Given the description of an element on the screen output the (x, y) to click on. 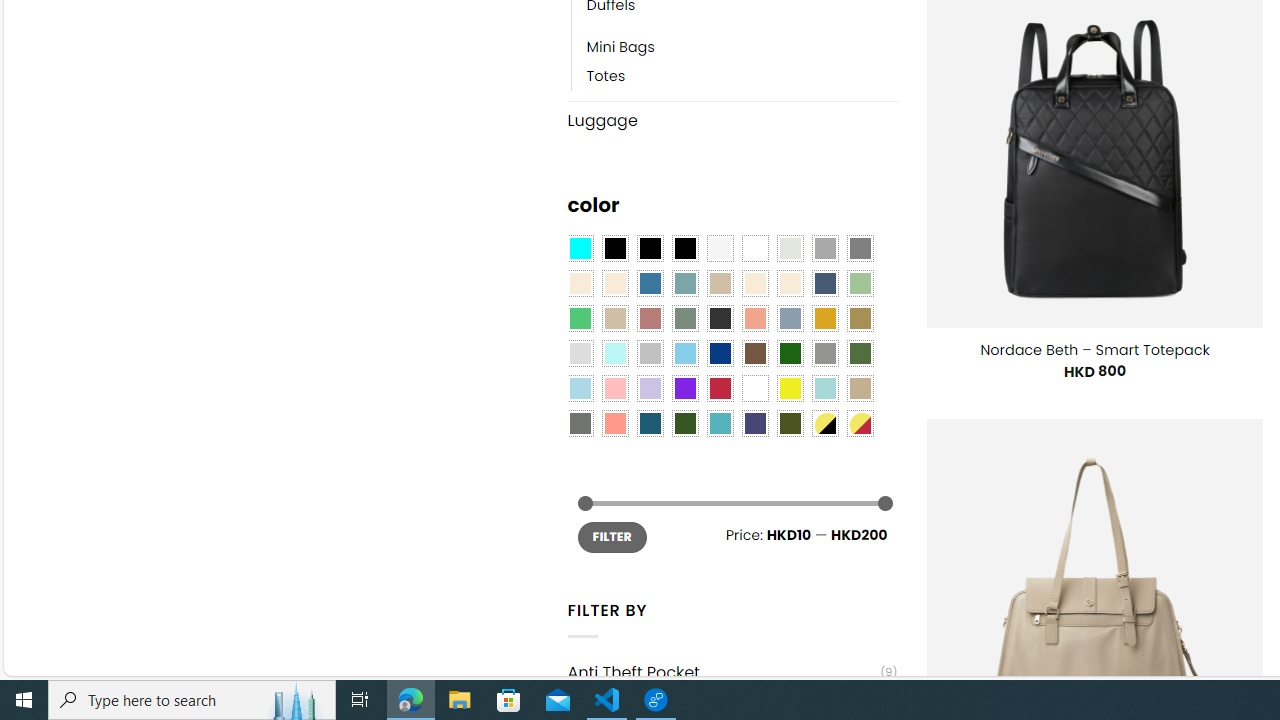
Anti Theft Pocket(9) (732, 672)
Gray (824, 354)
Navy Blue (719, 354)
Red (719, 388)
Yellow-Black (824, 424)
Light Blue (579, 388)
Mint (614, 354)
Aqua (824, 388)
Yellow-Red (859, 424)
Forest (684, 424)
Kelp (859, 318)
Light Taupe (614, 318)
Black (650, 249)
FILTER (612, 536)
